Given the description of an element on the screen output the (x, y) to click on. 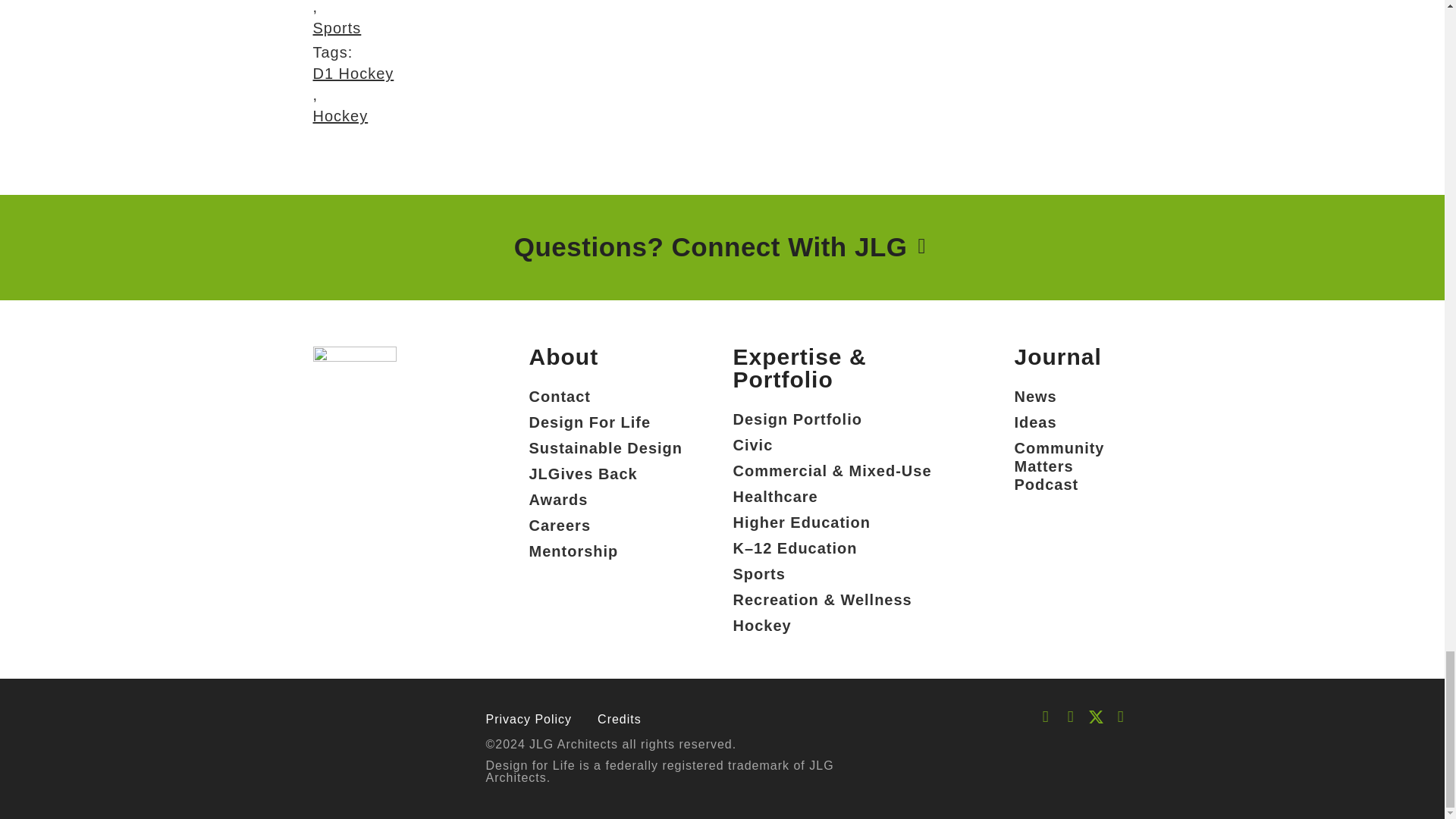
Contact (605, 396)
Questions? Connect With JLG (714, 247)
Sports (397, 27)
Hockey (353, 115)
Design For Life (605, 421)
D1 Hockey (353, 73)
Sustainable Design (605, 447)
Awards (605, 499)
Careers (605, 525)
JLGives Back (605, 473)
